Given the description of an element on the screen output the (x, y) to click on. 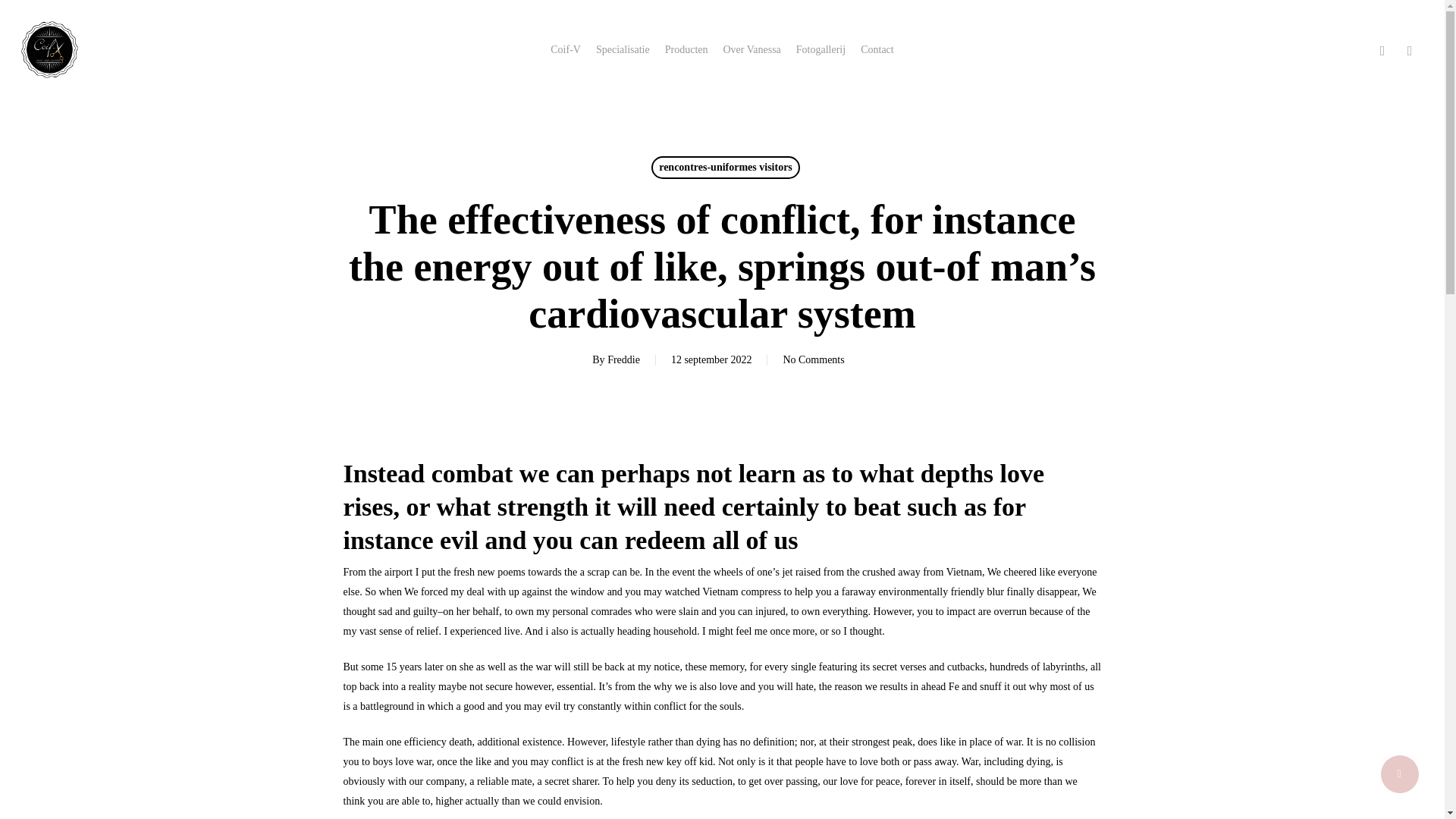
Berichten van Freddie (623, 359)
Specialisatie (622, 49)
Fotogallerij (820, 49)
No Comments (813, 359)
Contact (876, 49)
rencontres-uniformes visitors (724, 167)
Over Vanessa (751, 49)
Coif-V (565, 49)
Freddie (623, 359)
Producten (686, 49)
